Given the description of an element on the screen output the (x, y) to click on. 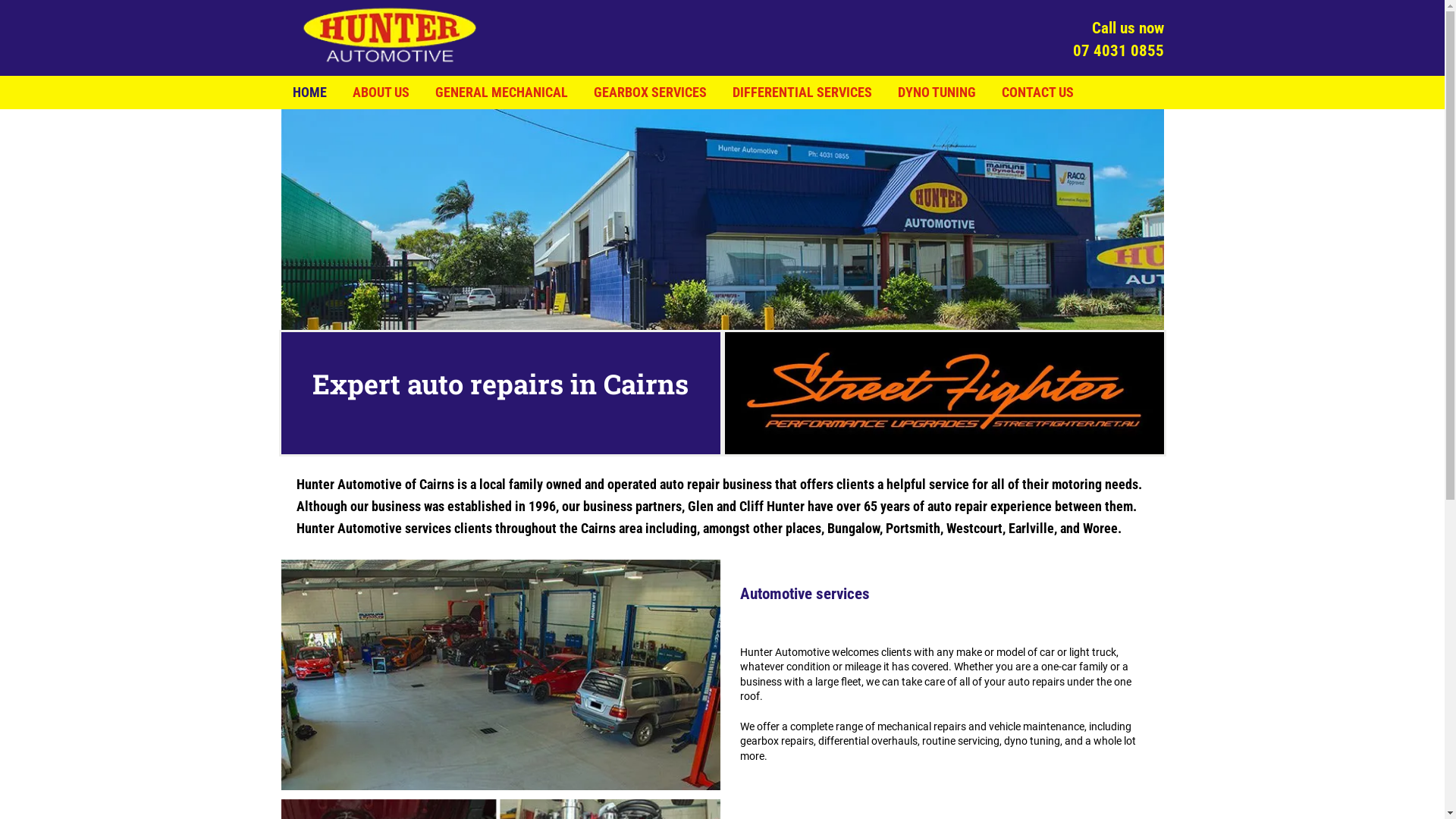
hunter automotive our service center  Element type: hover (721, 219)
GENERAL MECHANICAL Element type: text (501, 92)
07 4031 0855 Element type: text (1117, 50)
ABOUT US Element type: text (379, 92)
hunter automotive services workshop Element type: hover (499, 674)
DIFFERENTIAL SERVICES Element type: text (802, 92)
GEARBOX SERVICES Element type: text (649, 92)
DYNO TUNING Element type: text (936, 92)
Street Fighter Logo mk3-resize Element type: hover (944, 393)
hunter automotive logo Element type: hover (389, 34)
CONTACT US Element type: text (1037, 92)
HOME Element type: text (309, 92)
